Given the description of an element on the screen output the (x, y) to click on. 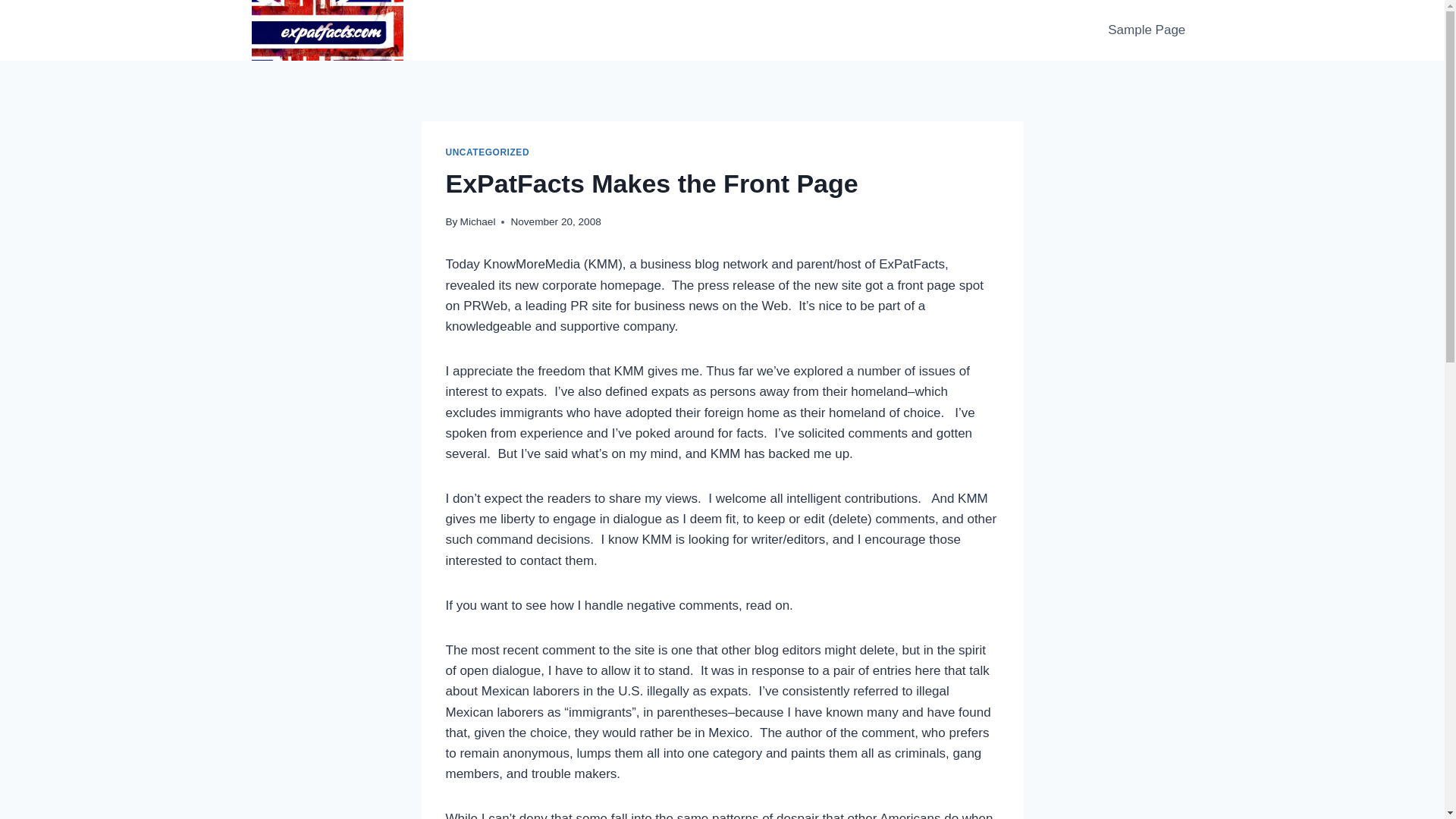
UNCATEGORIZED (487, 152)
Sample Page (1146, 30)
Michael (478, 221)
